Given the description of an element on the screen output the (x, y) to click on. 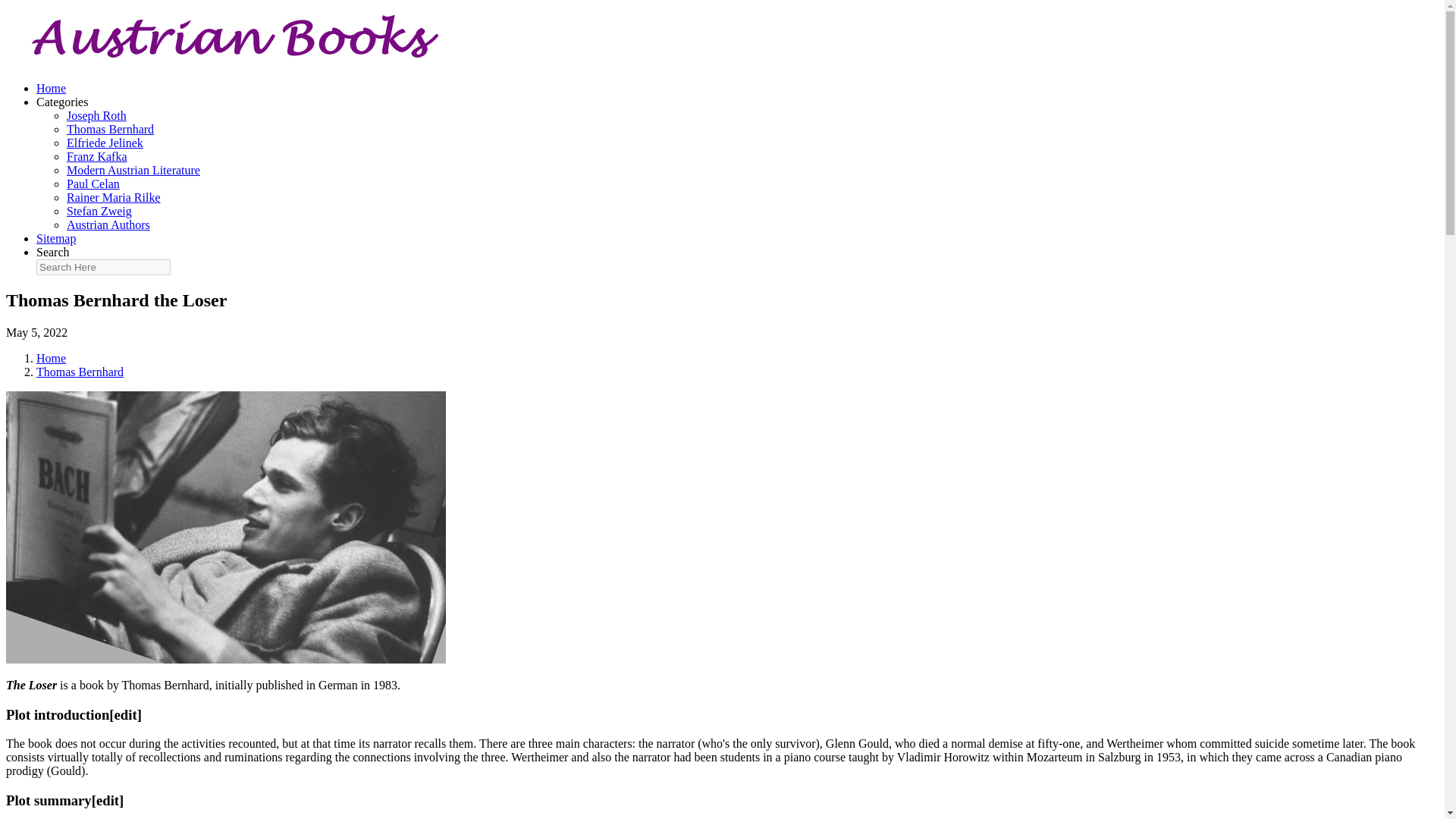
Rainer Maria Rilke (113, 196)
Thomas Bernhard (79, 371)
Franz Kafka (97, 155)
Home (50, 358)
Paul Celan (92, 183)
Thomas Bernhard (110, 128)
Search (52, 251)
Modern Austrian Literature (133, 169)
Elfriede Jelinek (104, 142)
Austrian Authors (107, 224)
